Given the description of an element on the screen output the (x, y) to click on. 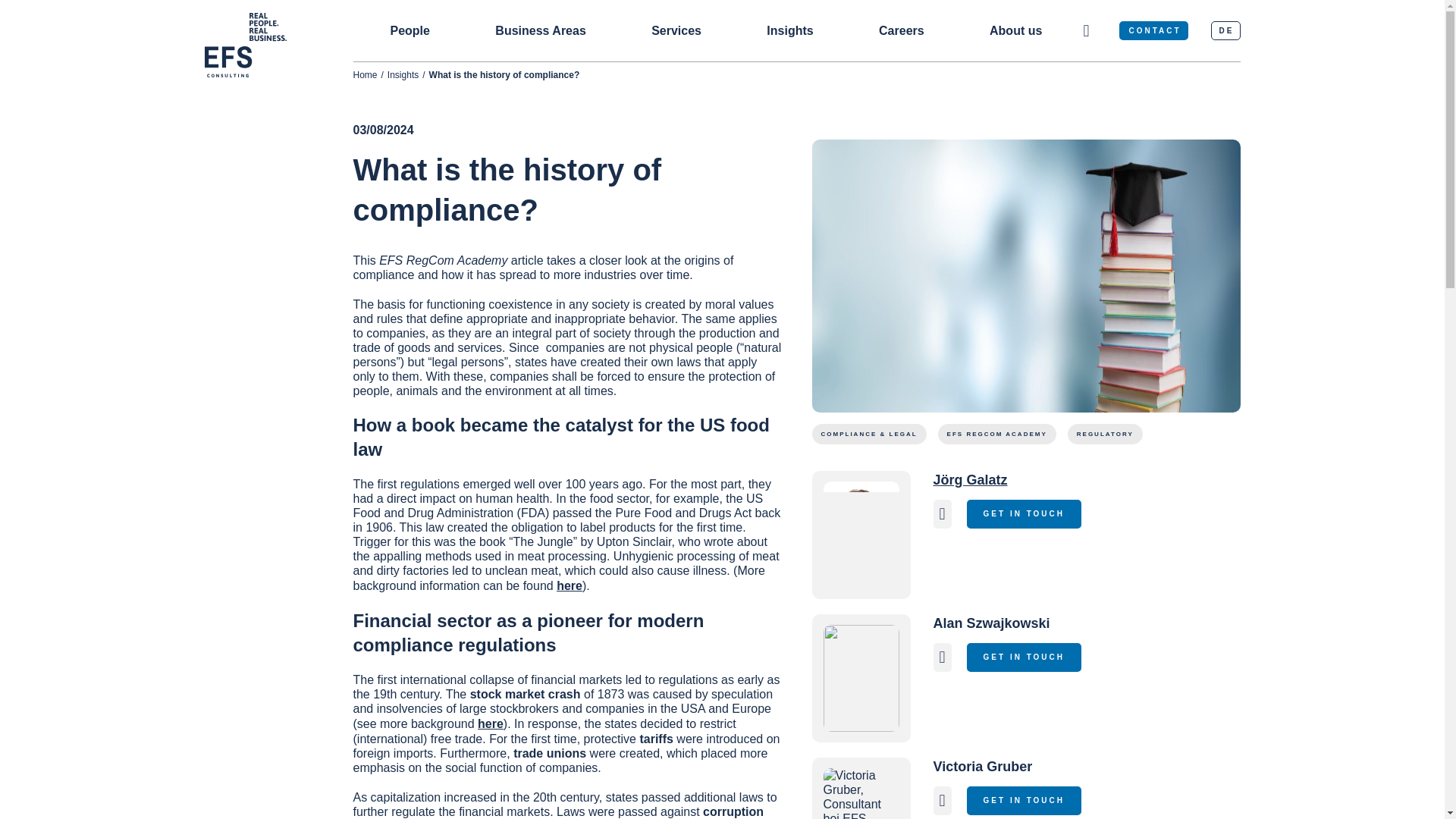
Home (365, 74)
REGULATORY (1104, 434)
CONTACT (1153, 30)
Insights (789, 30)
EFS REGCOM ACADEMY (997, 434)
GET IN TOUCH (1023, 513)
GET IN TOUCH (1023, 656)
About us (1016, 30)
Insights (403, 74)
People (409, 30)
Services (675, 30)
DE (1225, 30)
Careers (901, 30)
Business Areas (540, 30)
